Given the description of an element on the screen output the (x, y) to click on. 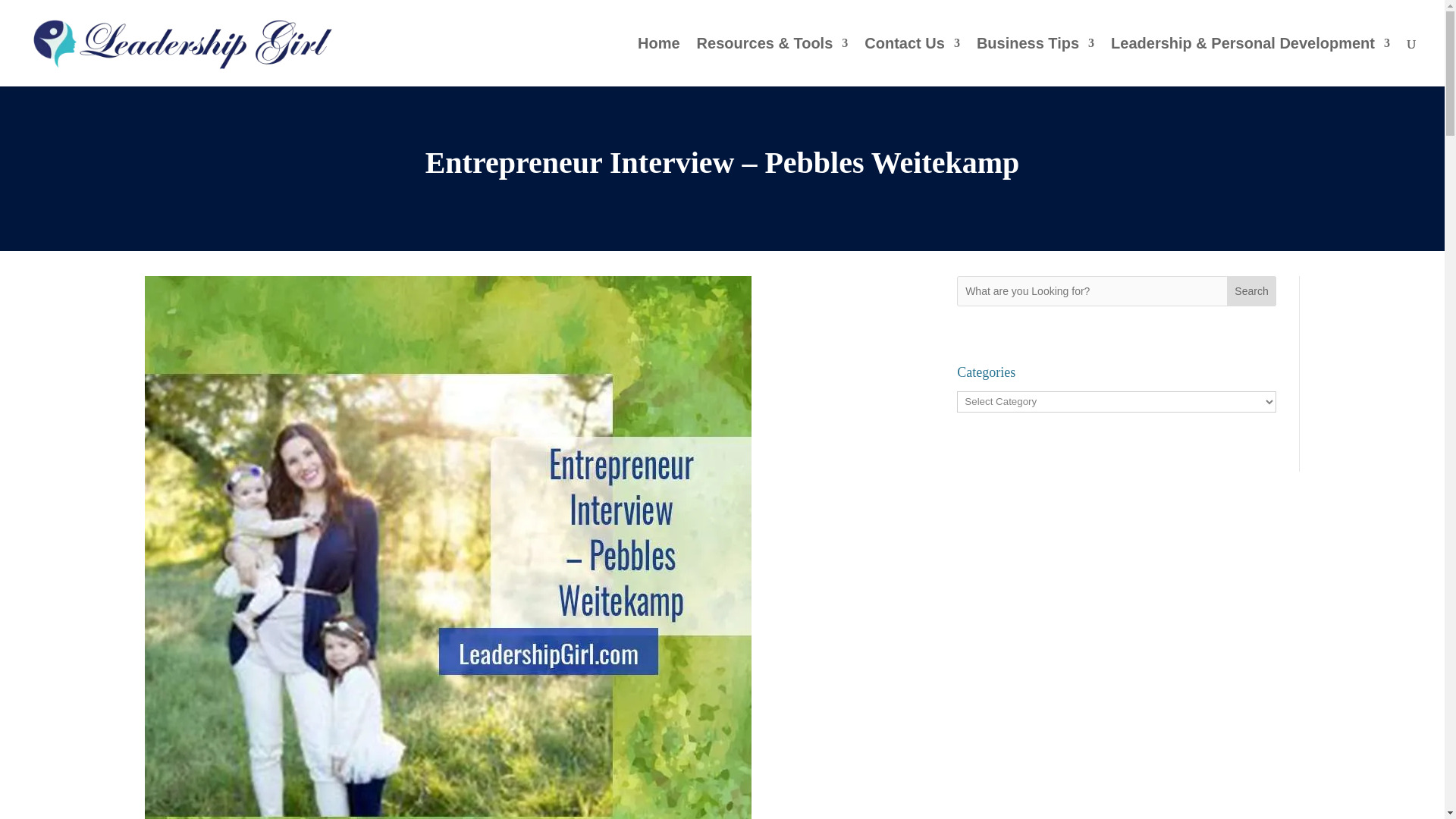
Contact Us (911, 61)
Business Tips (1035, 61)
Contact Us (911, 61)
Business Tips (1035, 61)
